Given the description of an element on the screen output the (x, y) to click on. 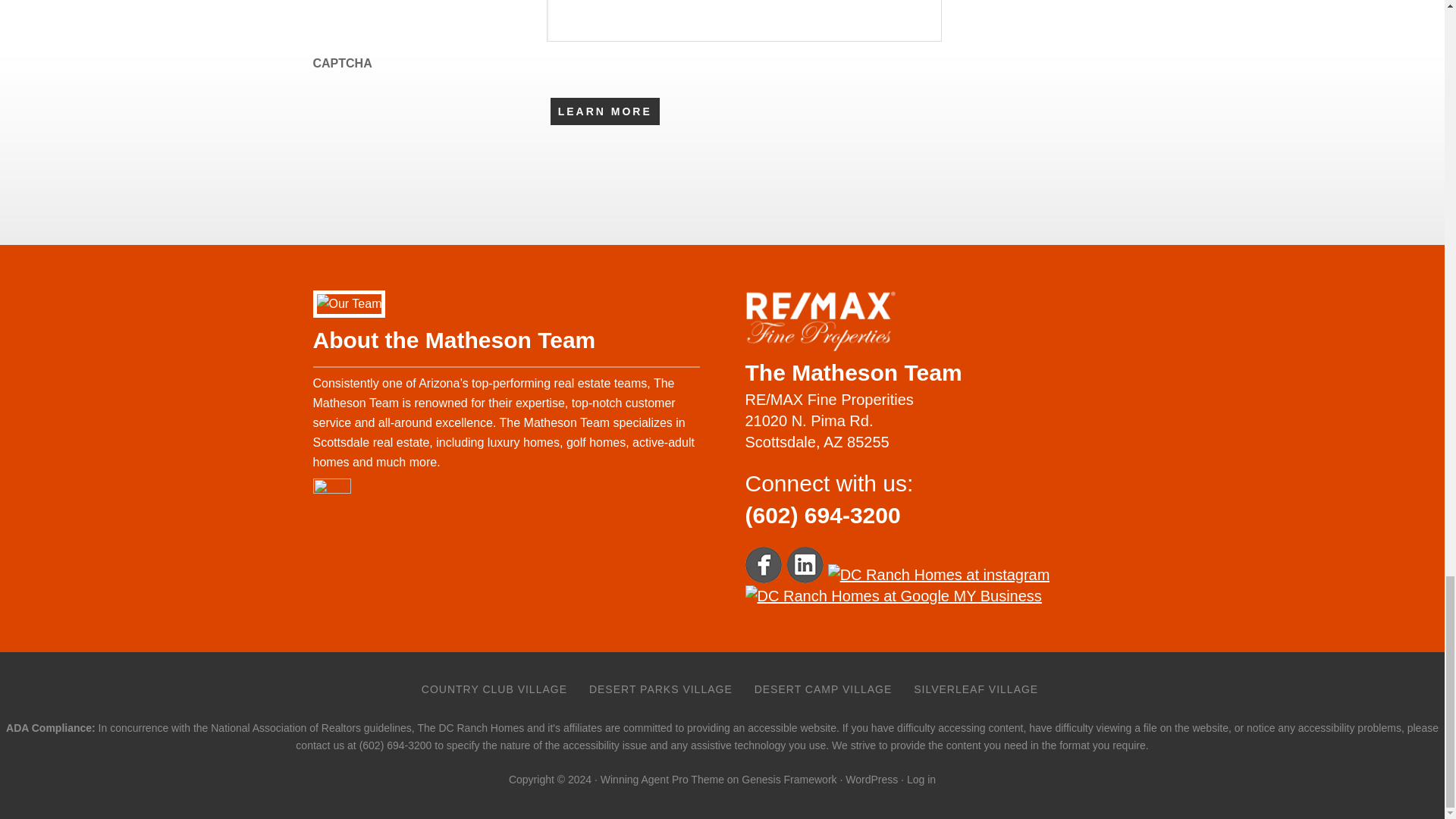
Winning Agent Pro Theme (661, 779)
WordPress (871, 779)
Genesis Framework (788, 779)
DESERT PARKS VILLAGE (660, 689)
SILVERLEAF VILLAGE (975, 689)
DESERT CAMP VILLAGE (823, 689)
Learn More (604, 111)
Log in (921, 779)
Learn More (604, 111)
COUNTRY CLUB VILLAGE (494, 689)
